Given the description of an element on the screen output the (x, y) to click on. 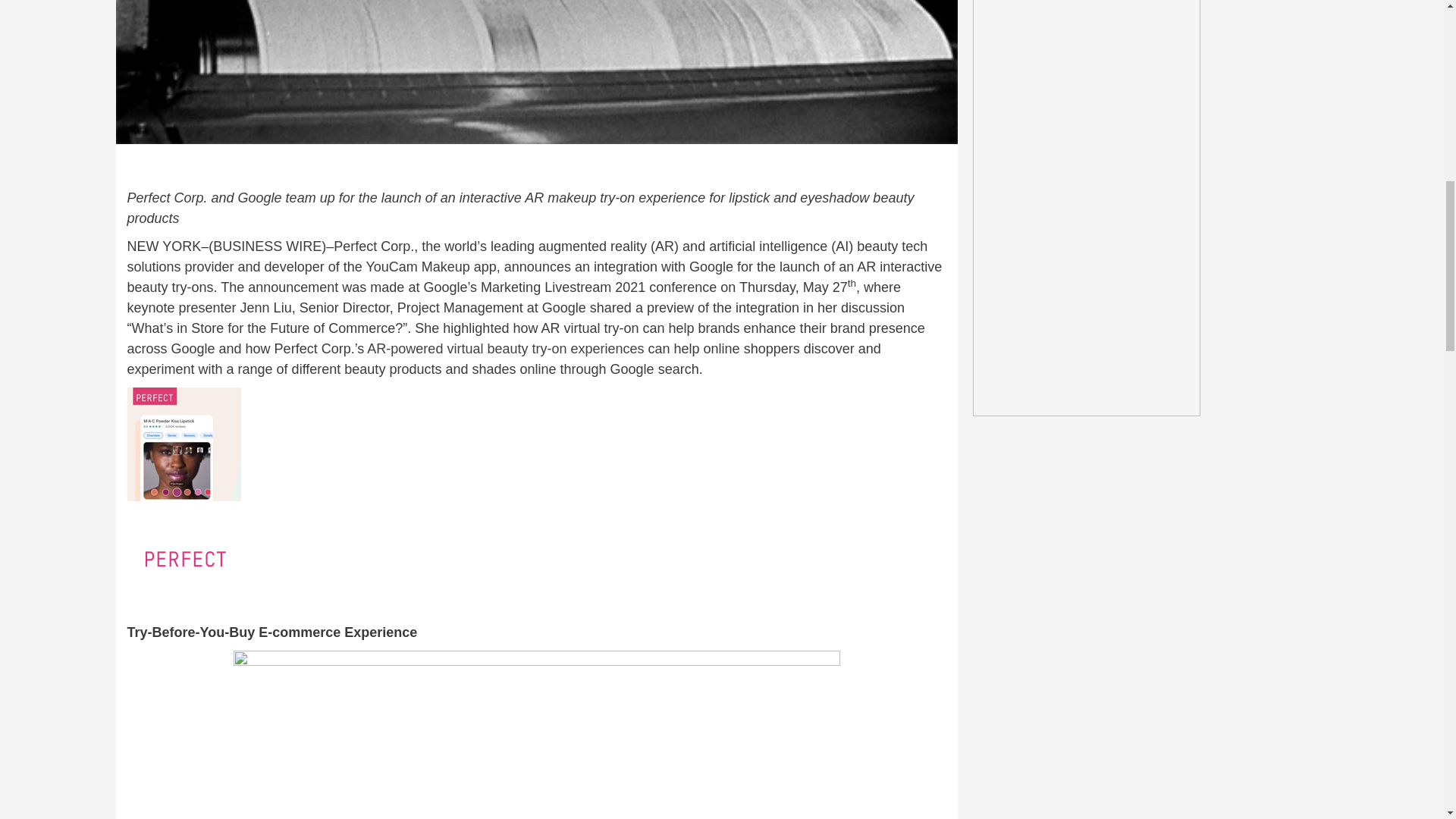
AR-powered virtual beauty try-on experiences (504, 348)
